Given the description of an element on the screen output the (x, y) to click on. 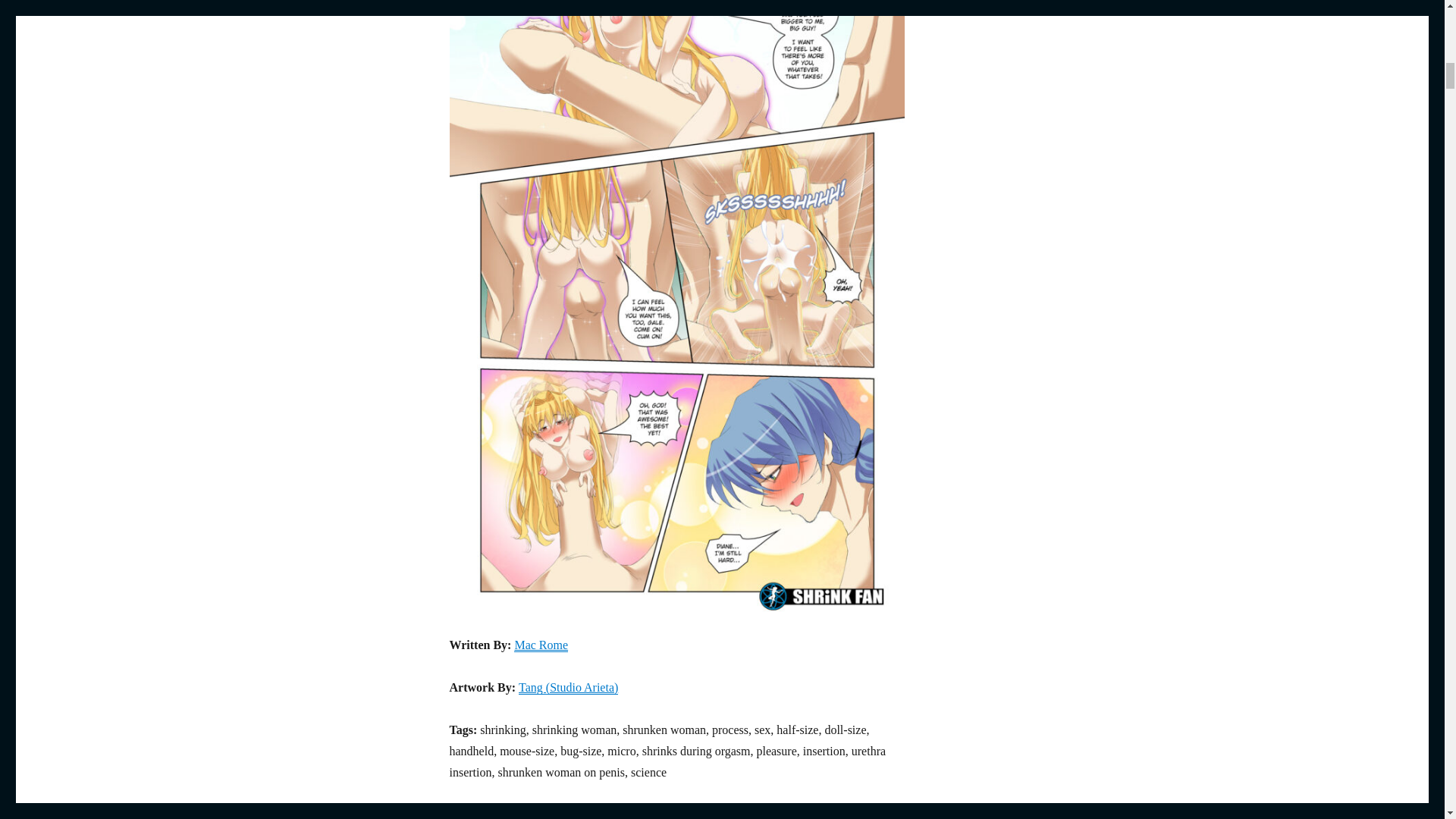
Mac Rome (540, 644)
